Given the description of an element on the screen output the (x, y) to click on. 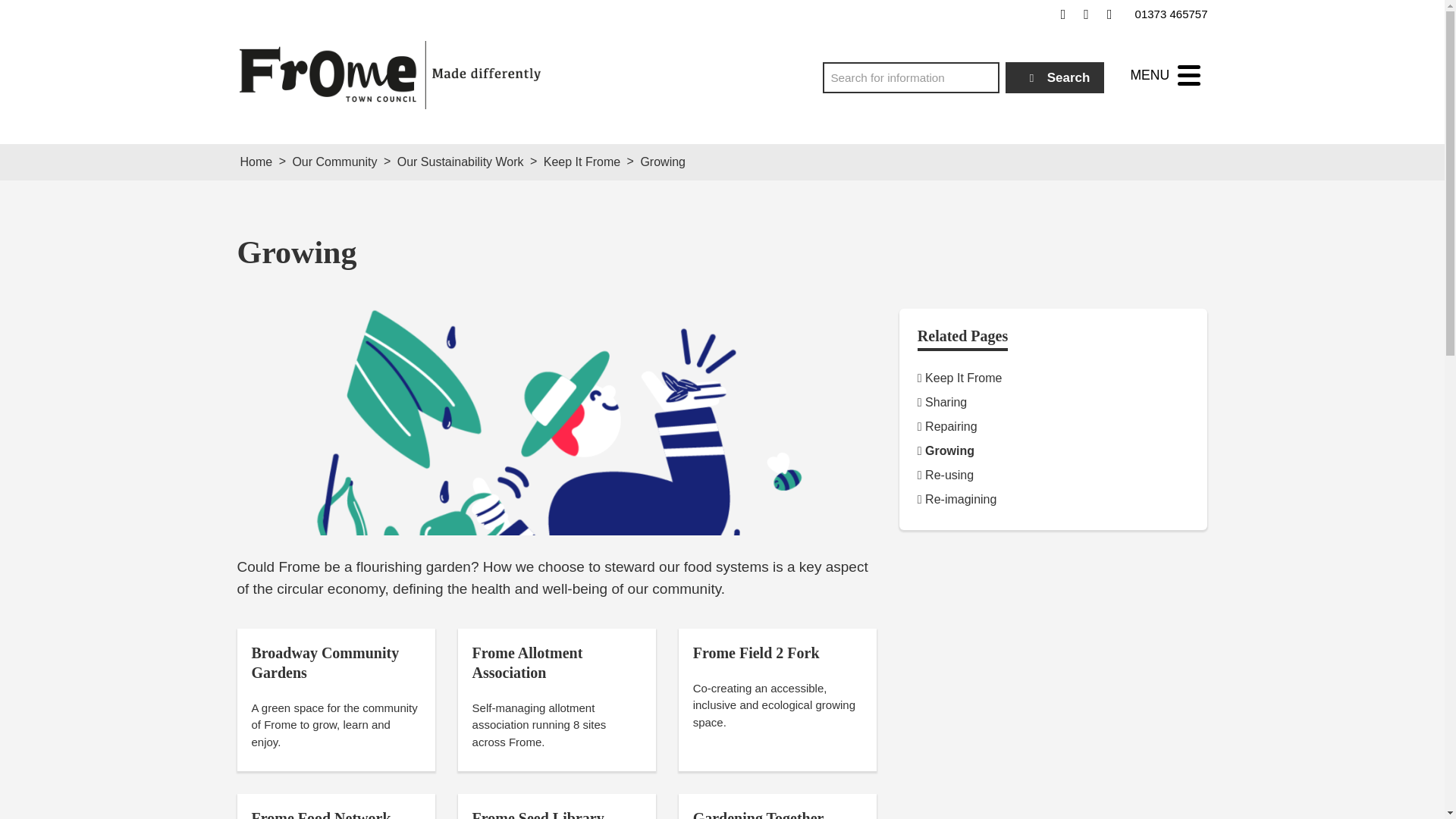
Frome Town Council's Twitter (1085, 13)
Go to Keep It Frome. (581, 161)
Go to Home. (256, 161)
Frome Town Council's Instagram (1109, 13)
Frome Town Council's Facebook (1063, 13)
Go to Our Sustainability Work. (460, 161)
Search (1055, 77)
MENU (1164, 75)
Go to Our Community. (334, 161)
